Given the description of an element on the screen output the (x, y) to click on. 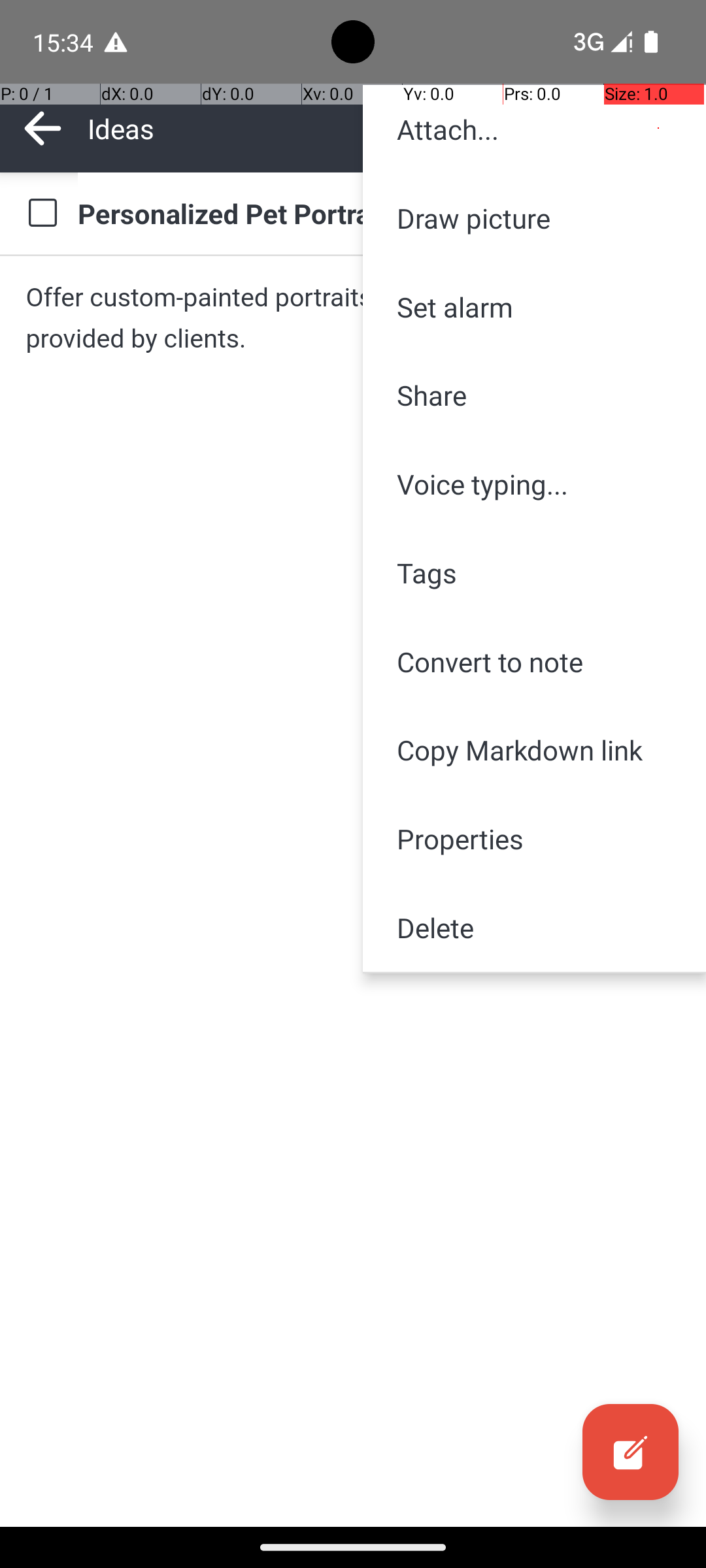
Personalized Pet Portraits Element type: android.widget.EditText (378, 213)
Attach... Element type: android.widget.TextView (534, 129)
Draw picture Element type: android.widget.TextView (534, 217)
Set alarm Element type: android.widget.TextView (534, 306)
Voice typing... Element type: android.widget.TextView (534, 484)
Tags Element type: android.widget.TextView (534, 572)
Convert to note Element type: android.widget.TextView (534, 661)
Copy Markdown link Element type: android.widget.TextView (534, 749)
Properties Element type: android.widget.TextView (534, 838)
Offer custom-painted portraits of pets based on photos provided by clients. Element type: android.widget.TextView (352, 317)
